Given the description of an element on the screen output the (x, y) to click on. 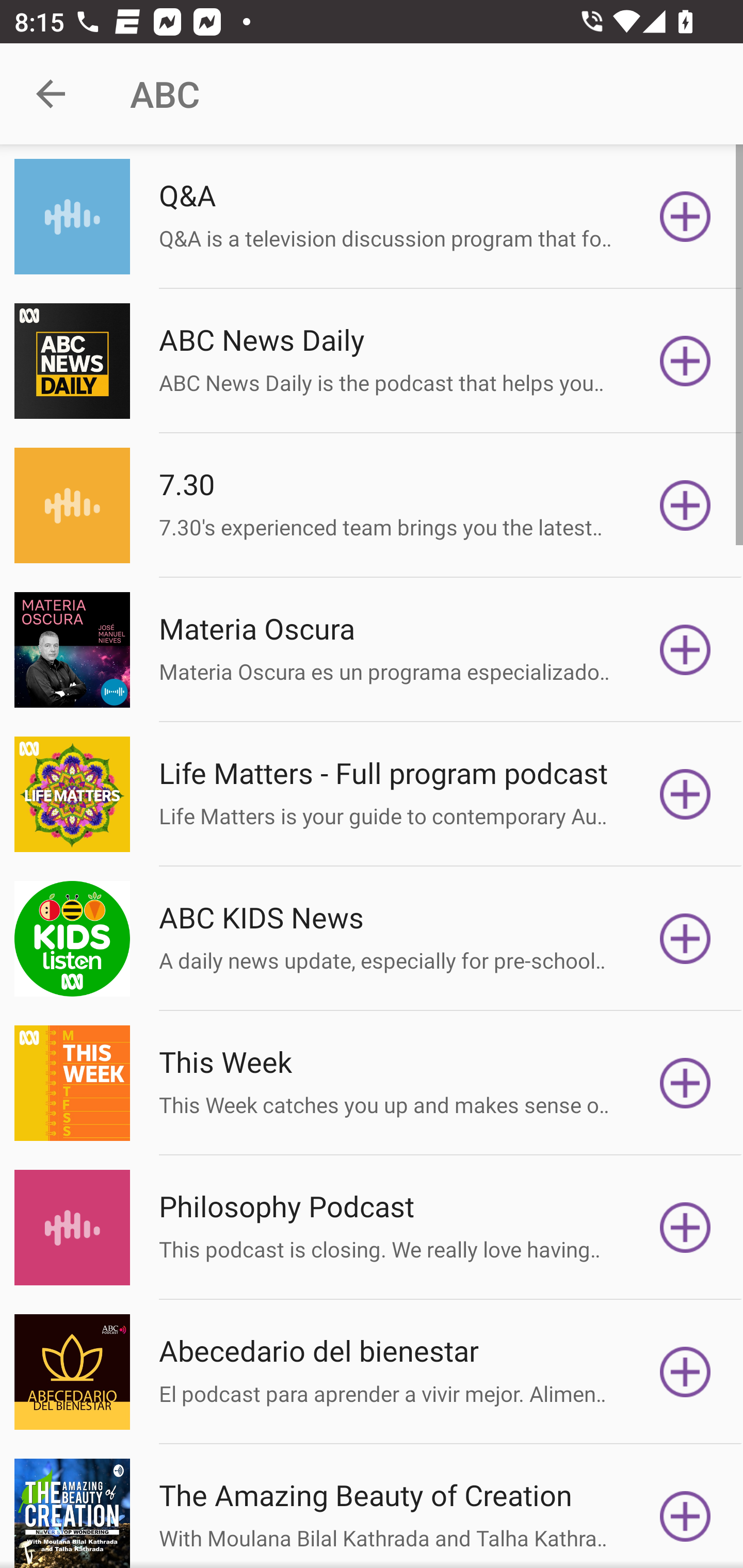
Navigate up (50, 93)
Subscribe (685, 216)
Subscribe (685, 360)
Subscribe (685, 505)
Subscribe (685, 649)
Subscribe (685, 793)
Subscribe (685, 939)
Subscribe (685, 1083)
Subscribe (685, 1227)
Subscribe (685, 1371)
Subscribe (685, 1513)
